Given the description of an element on the screen output the (x, y) to click on. 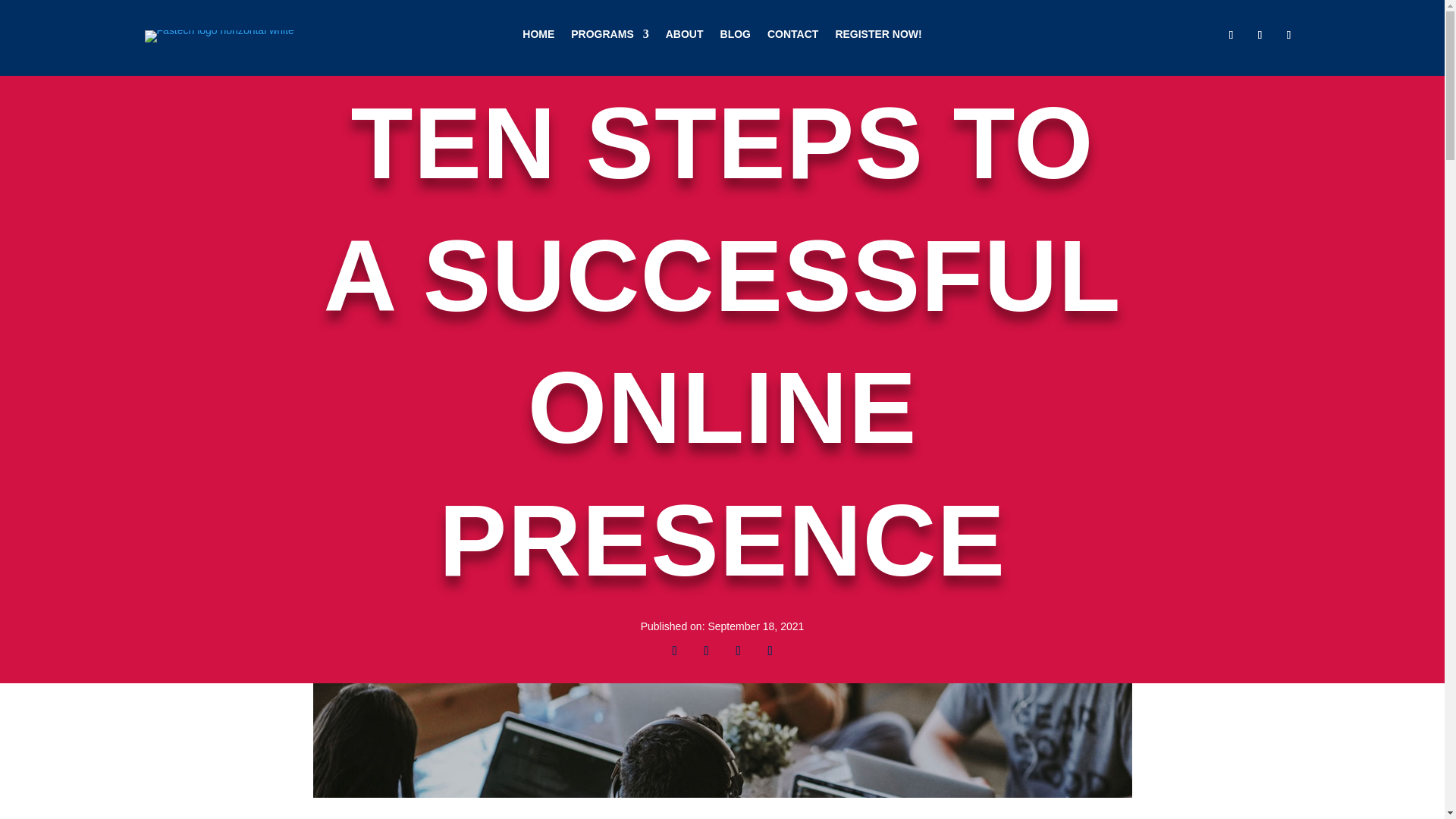
Follow on X (706, 651)
REGISTER NOW! (877, 36)
Follow on Facebook (674, 651)
Follow on Instagram (1288, 34)
Follow on Facebook (1230, 34)
BLOG (735, 36)
Follow on Youtube (770, 651)
web-deve-program (722, 751)
fastech-hor-white-300px (219, 36)
ABOUT (684, 36)
